Given the description of an element on the screen output the (x, y) to click on. 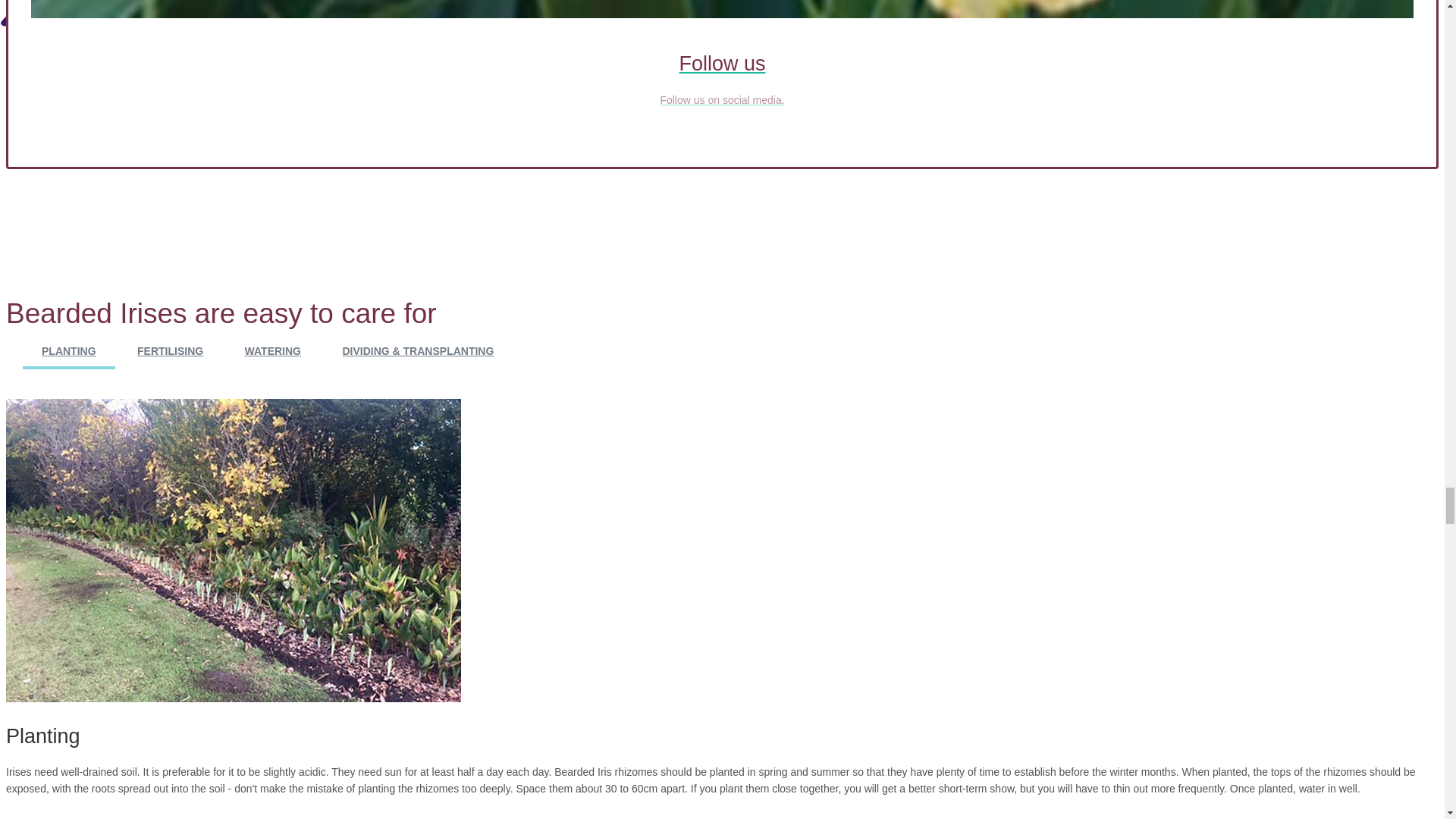
PLANTING (69, 350)
WATERING (272, 350)
